Given the description of an element on the screen output the (x, y) to click on. 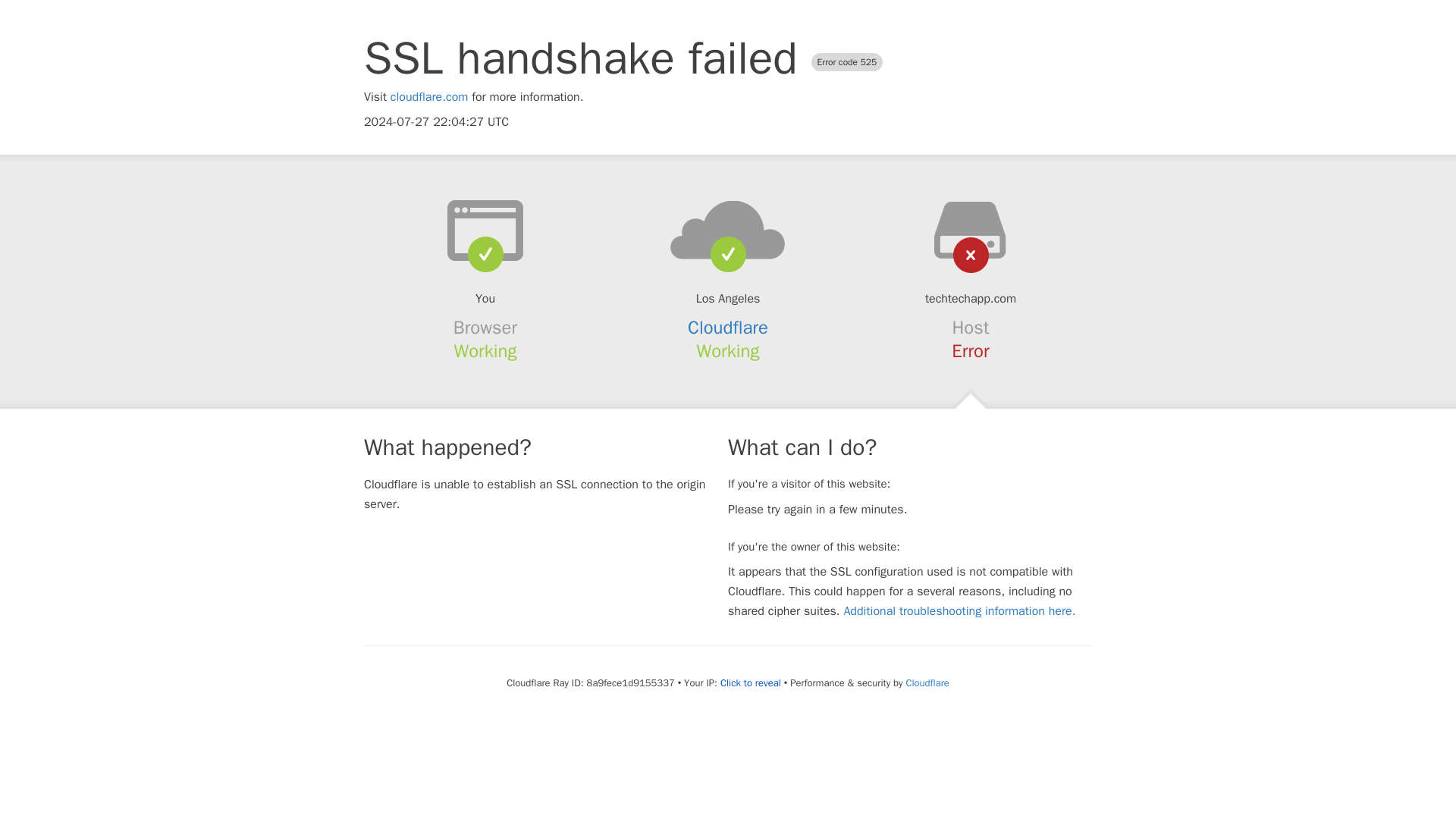
Cloudflare (927, 682)
Click to reveal (750, 683)
Cloudflare (727, 327)
Additional troubleshooting information here. (959, 611)
cloudflare.com (429, 96)
